Given the description of an element on the screen output the (x, y) to click on. 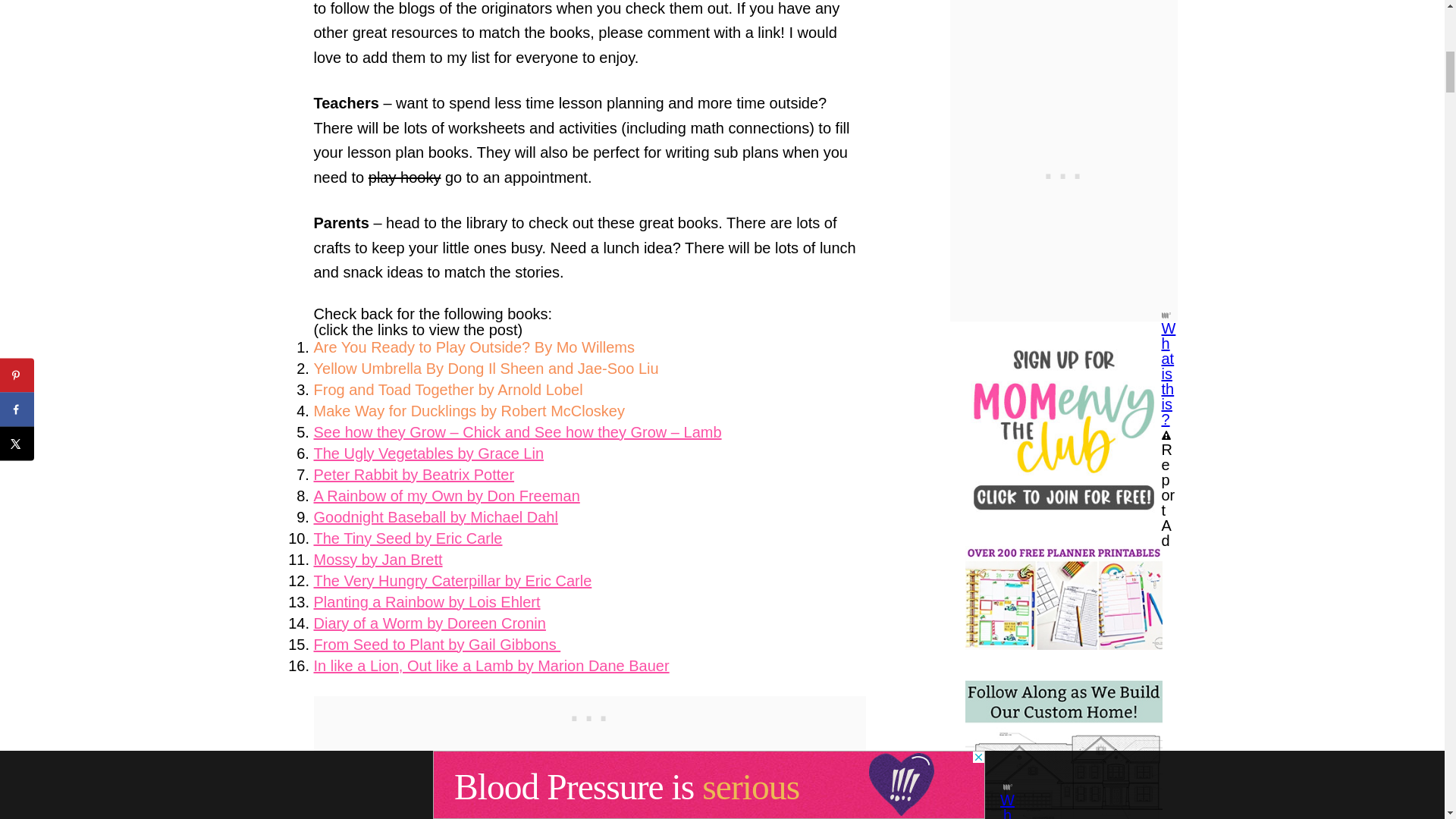
3rd party ad content (589, 714)
